Given the description of an element on the screen output the (x, y) to click on. 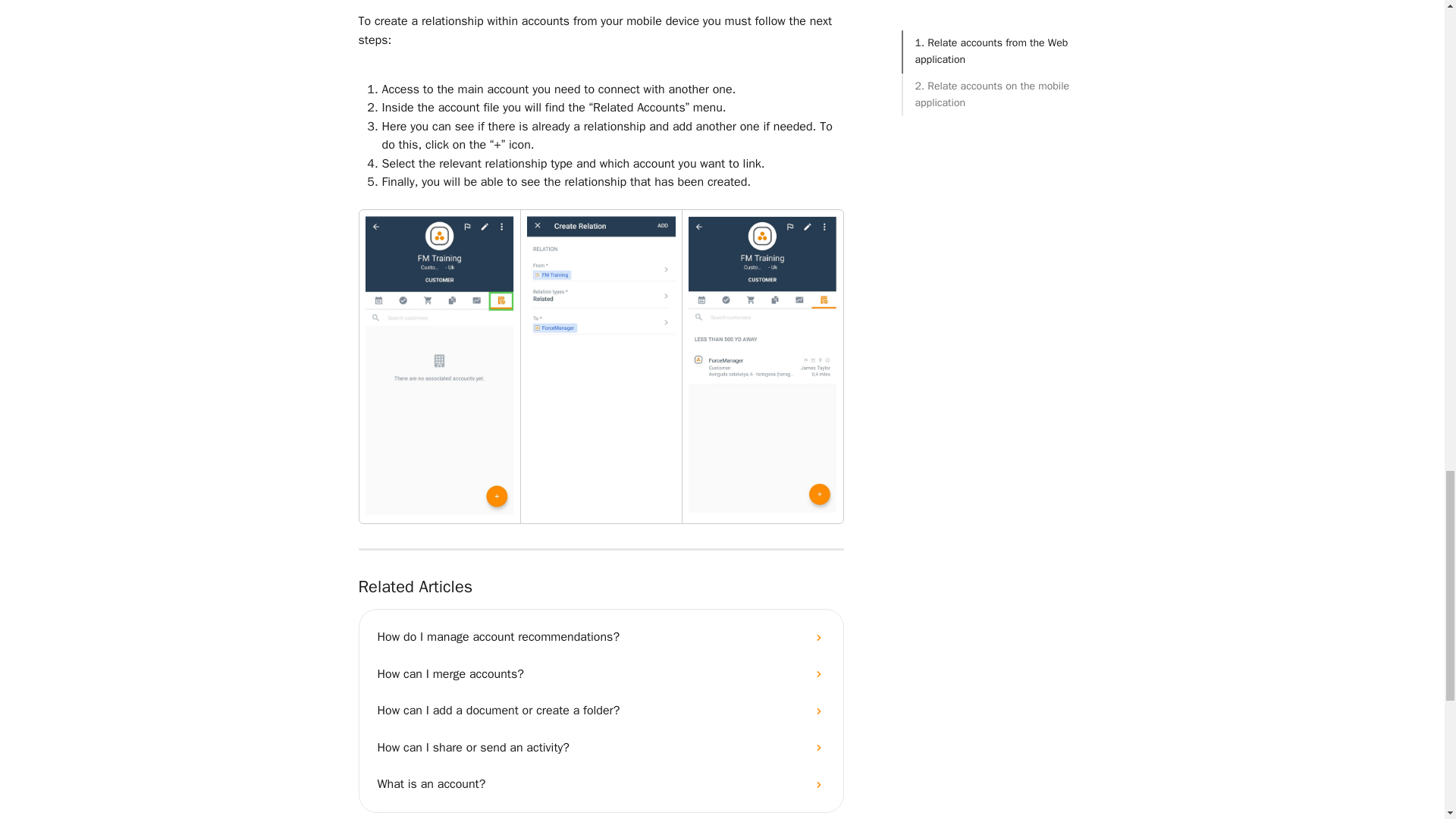
How can I merge accounts? (601, 674)
How do I manage account recommendations? (601, 637)
What is an account? (601, 783)
How can I add a document or create a folder? (601, 710)
How can I share or send an activity? (601, 747)
